Given the description of an element on the screen output the (x, y) to click on. 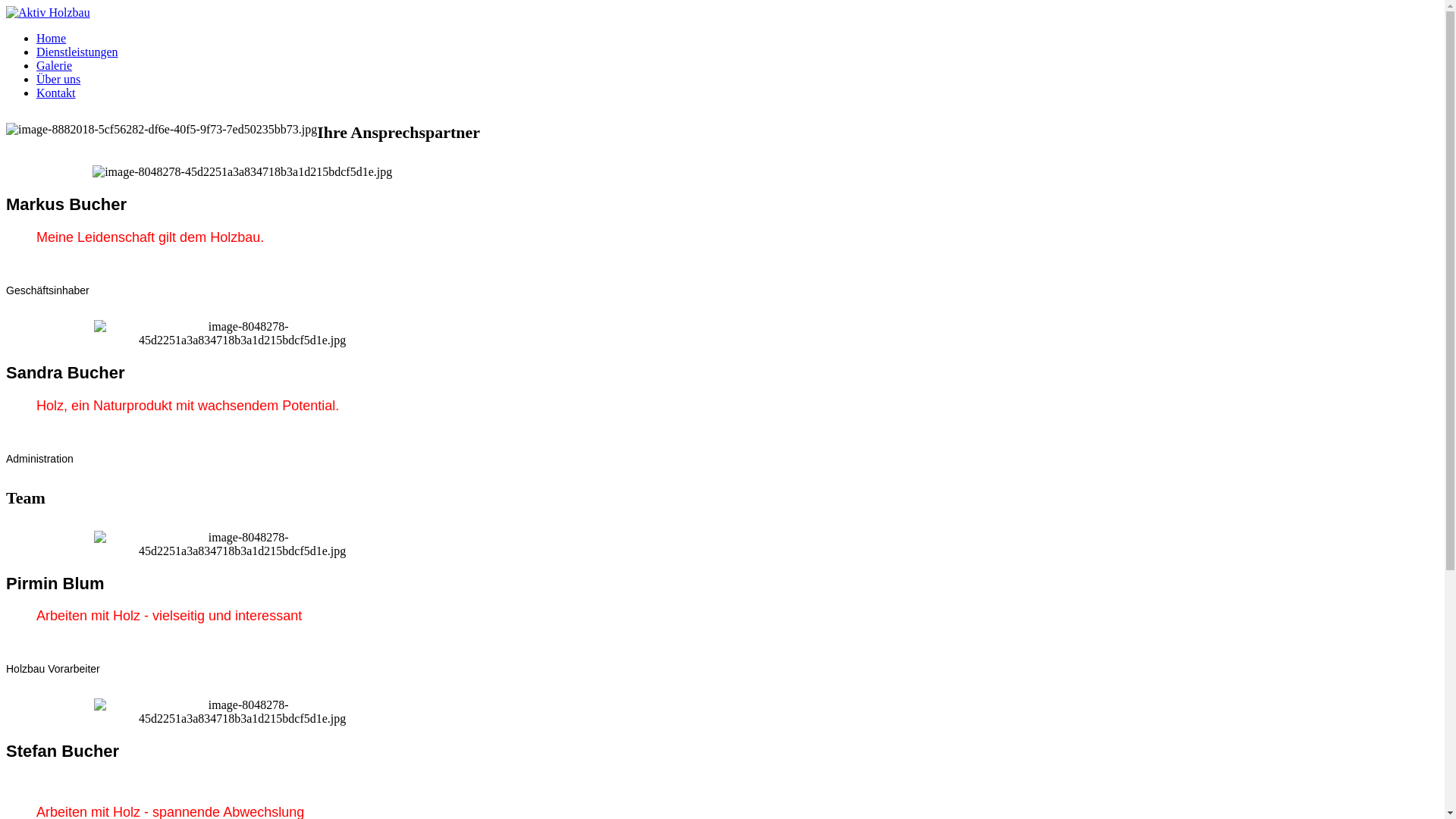
Dienstleistungen Element type: text (77, 51)
Home Element type: text (50, 37)
Galerie Element type: text (54, 65)
Kontakt Element type: text (55, 92)
